Given the description of an element on the screen output the (x, y) to click on. 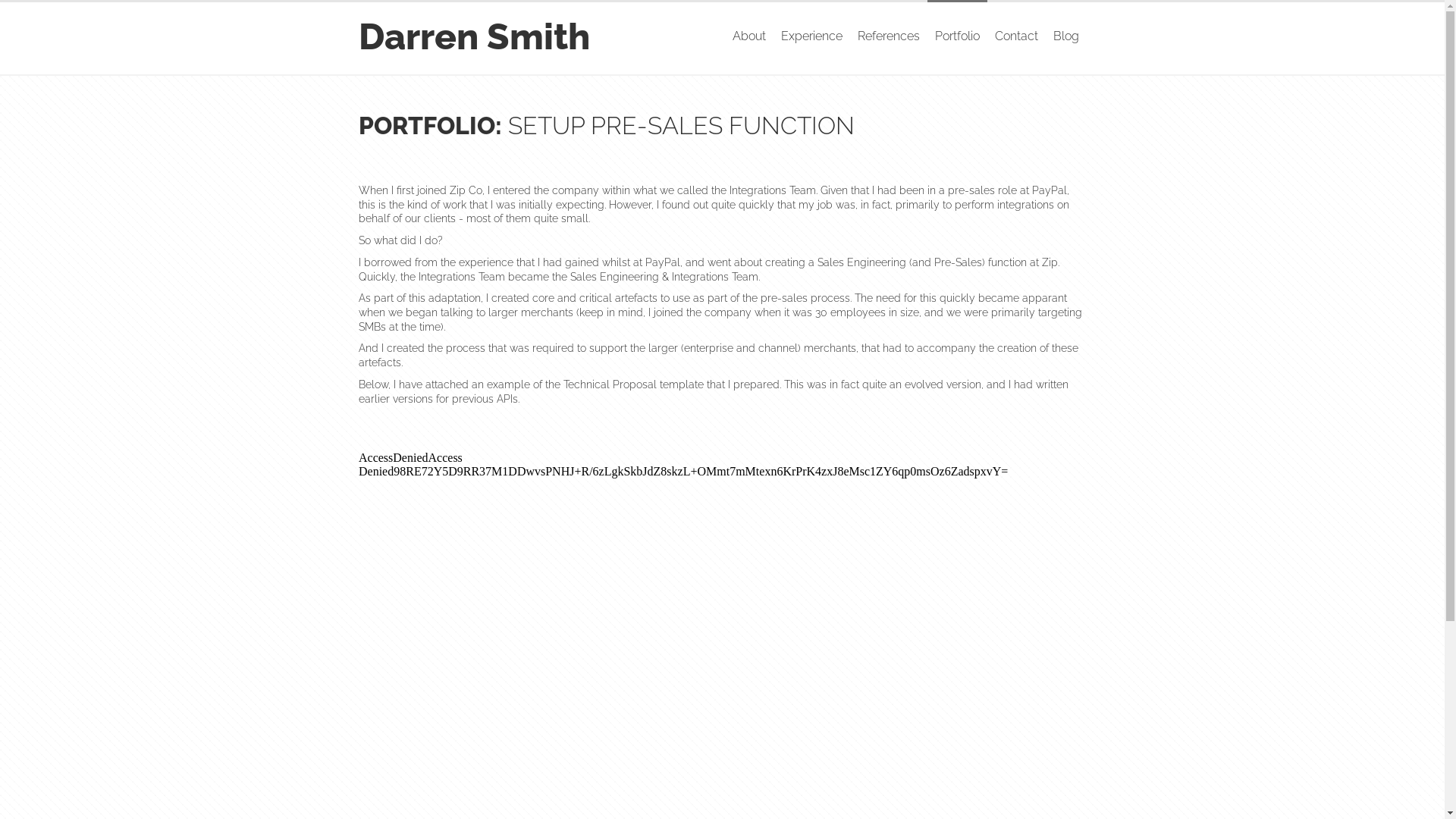
Darren Smith Element type: text (473, 36)
Experience Element type: text (811, 36)
Blog Element type: text (1064, 36)
Portfolio Element type: text (956, 36)
Contact Element type: text (1016, 36)
References Element type: text (887, 36)
About Element type: text (748, 36)
